Given the description of an element on the screen output the (x, y) to click on. 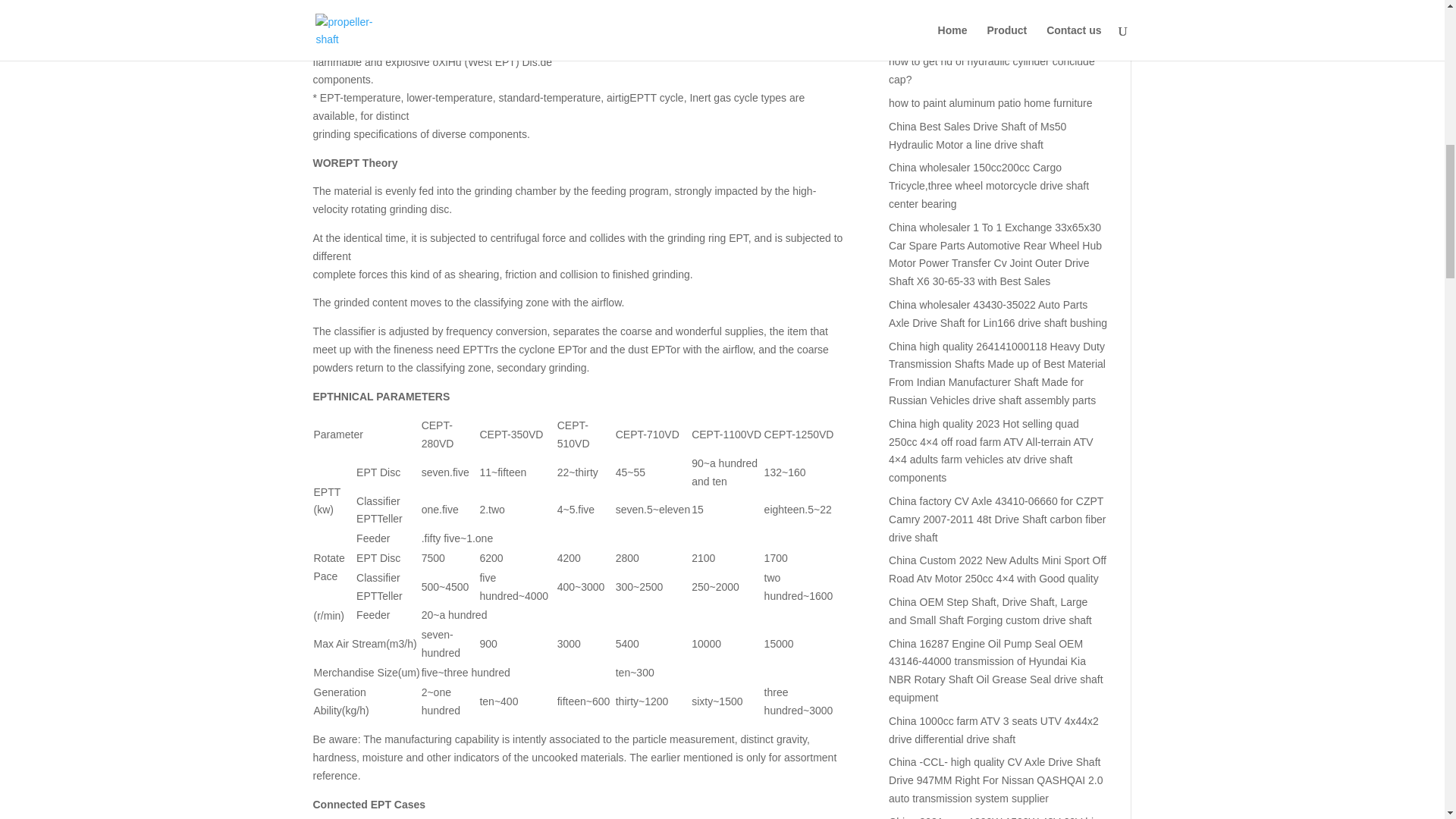
how to bleed hydraulic cylinder? (963, 38)
how to paint aluminum patio home furniture (990, 102)
